Given the description of an element on the screen output the (x, y) to click on. 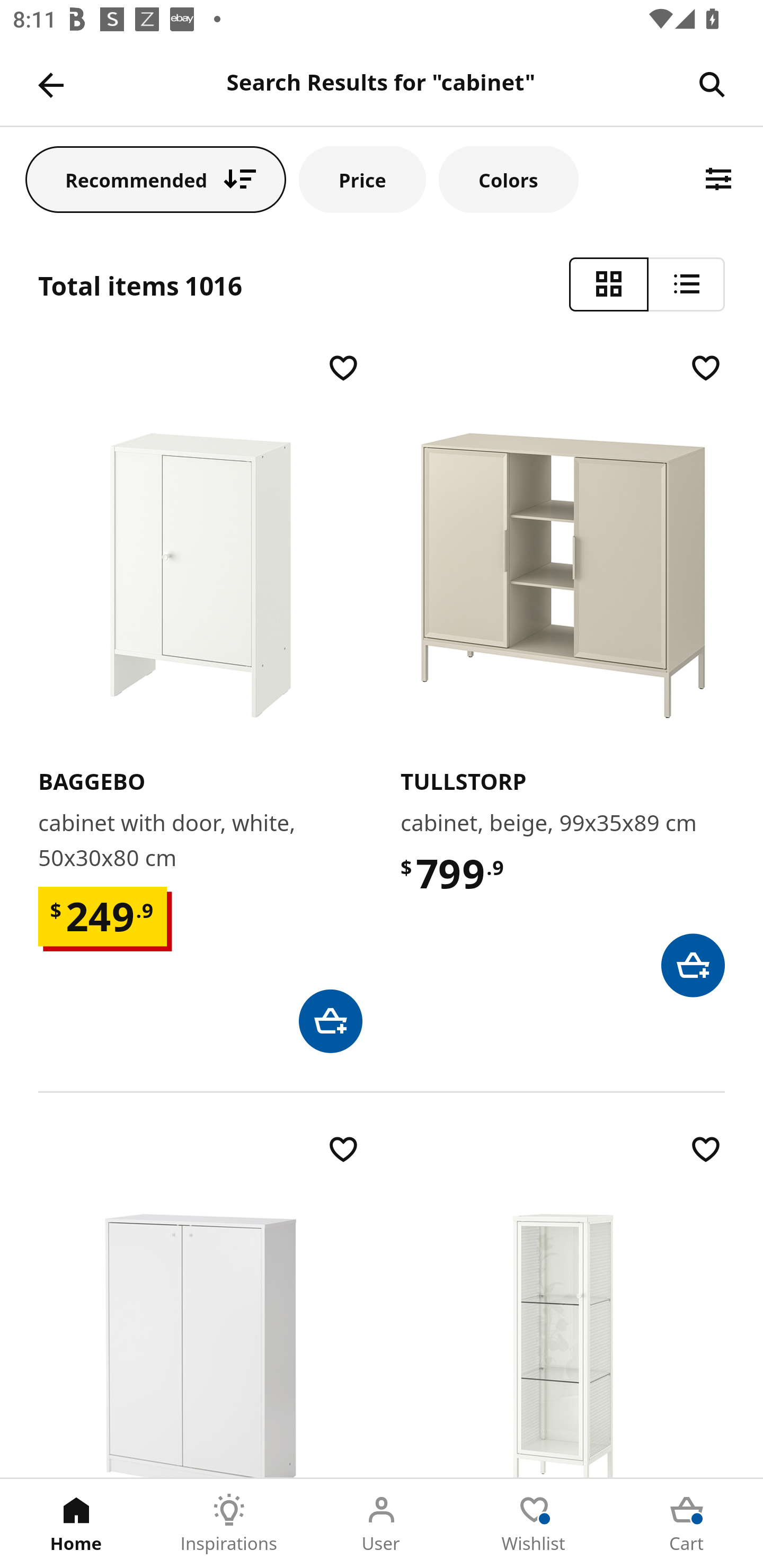
Recommended (155, 179)
Price (362, 179)
Colors (508, 179)
Home
Tab 1 of 5 (76, 1522)
Inspirations
Tab 2 of 5 (228, 1522)
User
Tab 3 of 5 (381, 1522)
Wishlist
Tab 4 of 5 (533, 1522)
Cart
Tab 5 of 5 (686, 1522)
